Given the description of an element on the screen output the (x, y) to click on. 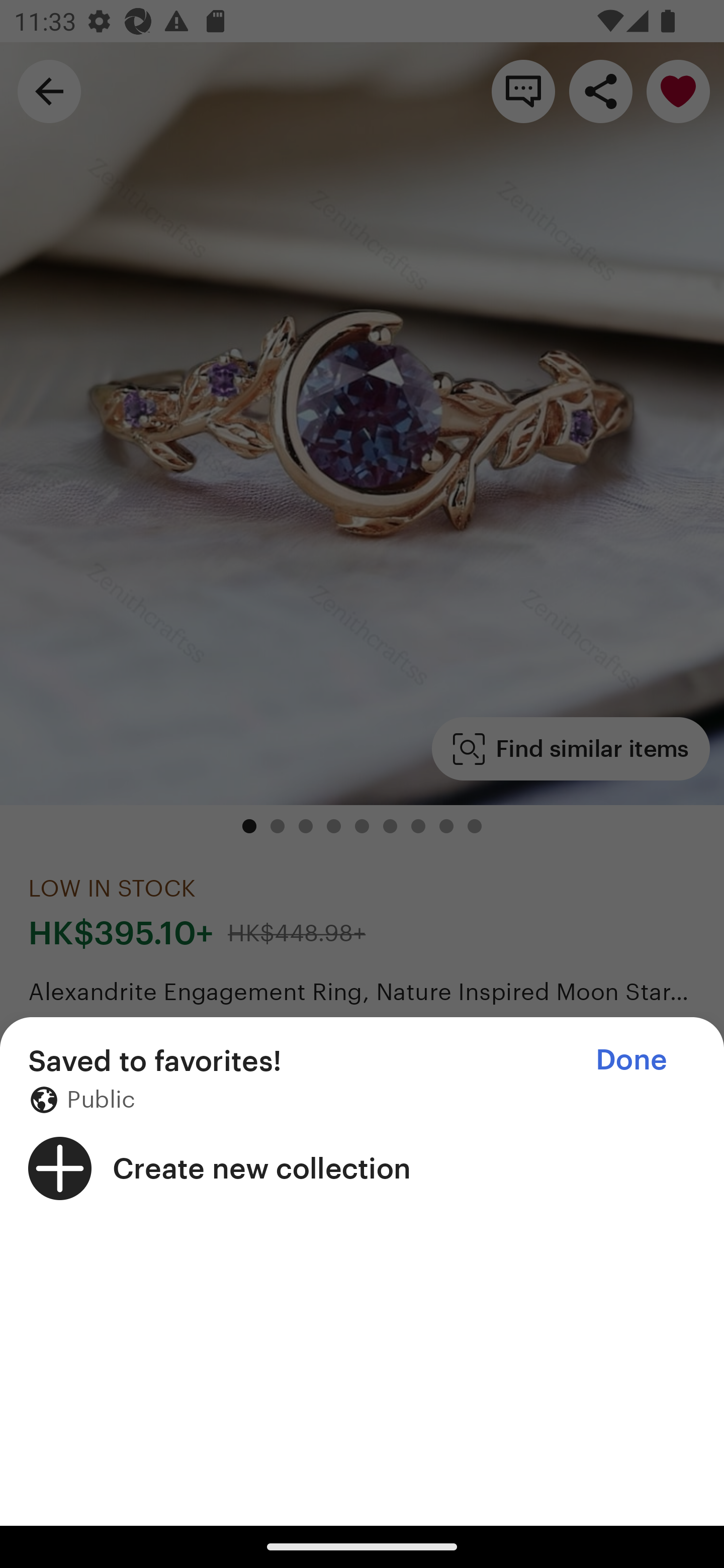
Done (630, 1059)
Create new collection (361, 1167)
